Given the description of an element on the screen output the (x, y) to click on. 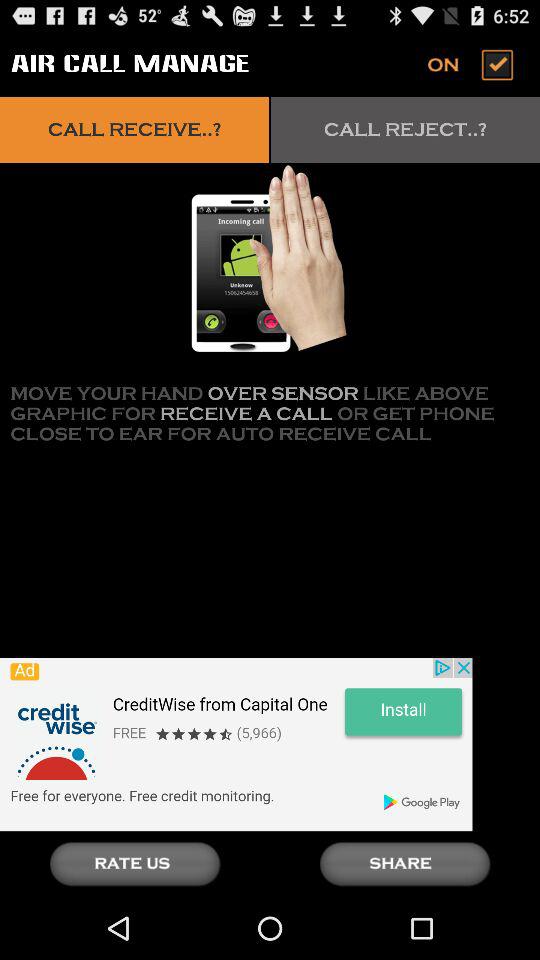
toggle on option (472, 64)
